Given the description of an element on the screen output the (x, y) to click on. 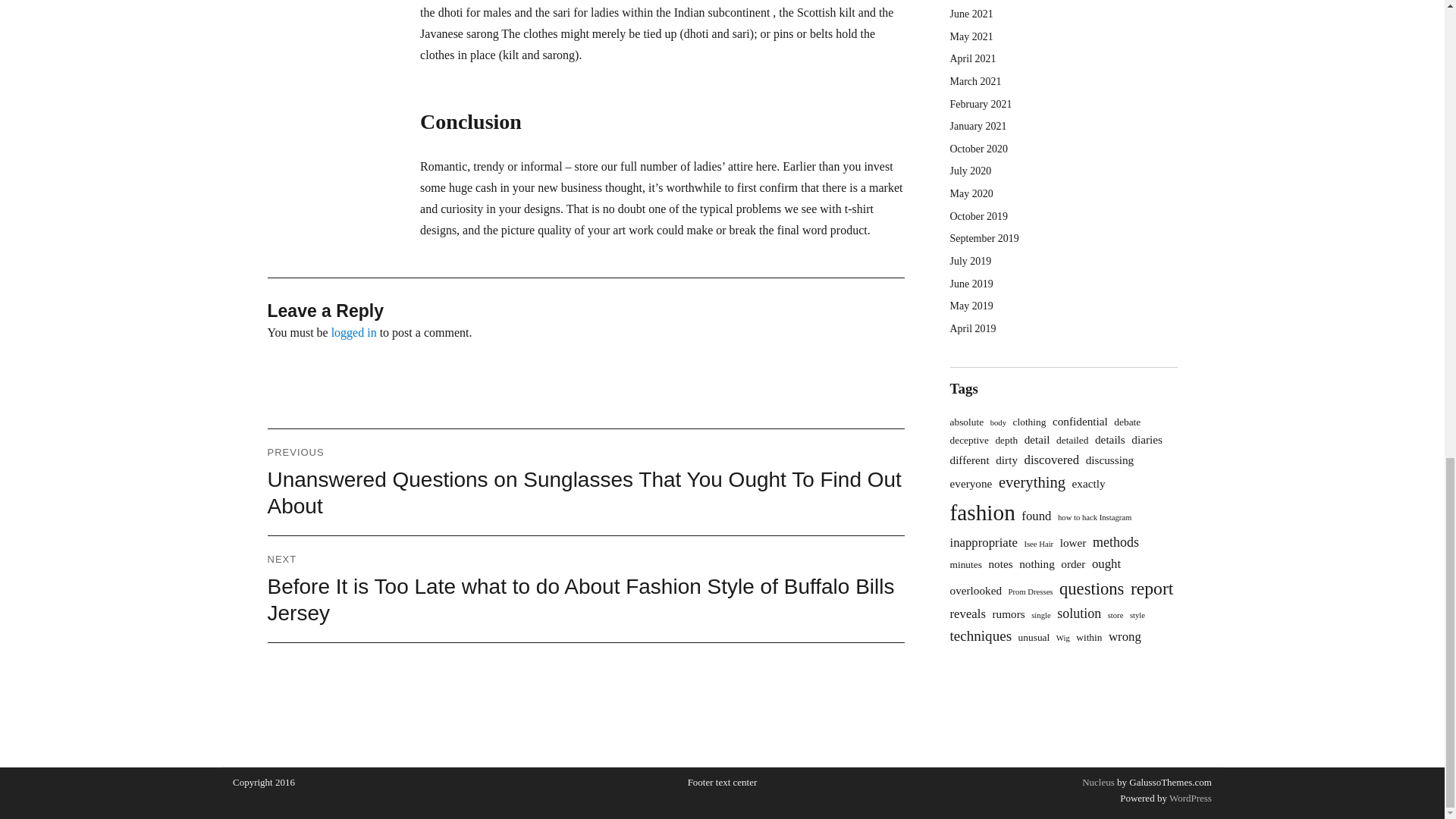
logged in (354, 332)
June 2021 (970, 13)
Semantic Personal Publishing Platform (1189, 797)
